Given the description of an element on the screen output the (x, y) to click on. 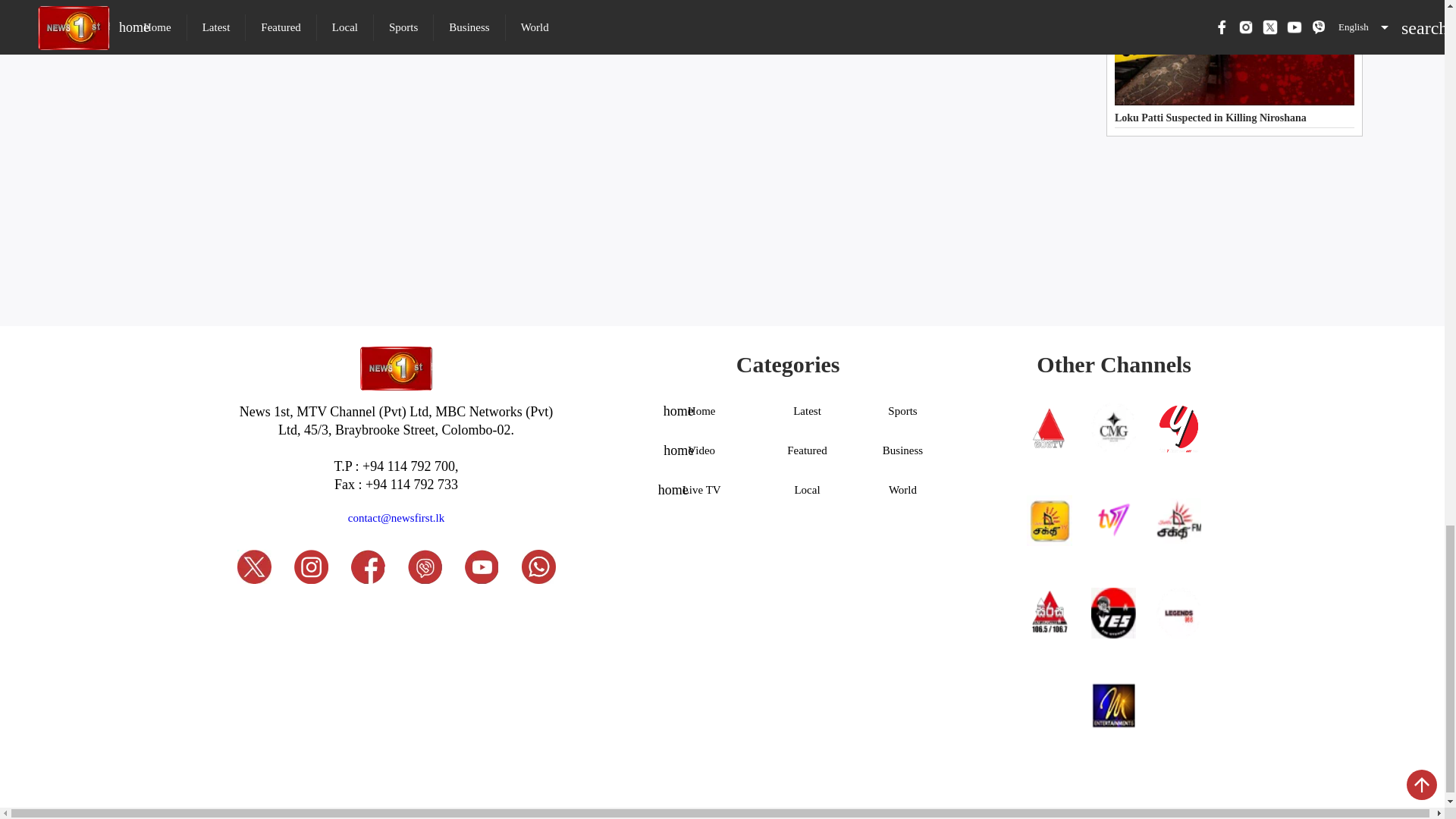
Sri Lanka Falls Short of Tax Target in 2023 (254, 11)
Financial Literacy Key to Alleviating Poverty (590, 11)
Loku Patti Suspected in Killing Niroshana (1234, 63)
Advertisement (590, 143)
